Given the description of an element on the screen output the (x, y) to click on. 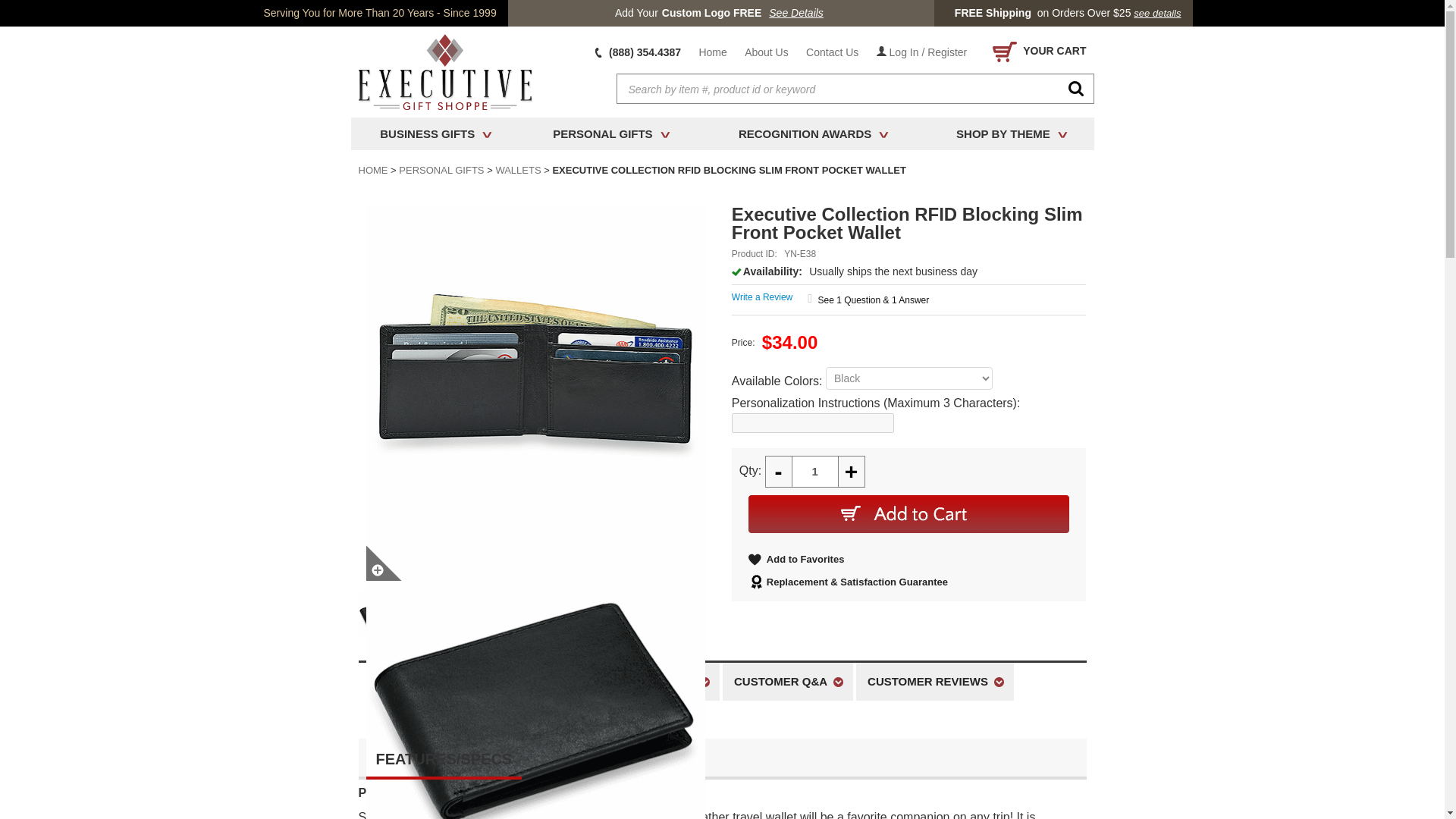
see details (1157, 13)
About Us (766, 51)
Home (711, 51)
1 (815, 471)
YOUR CART (1035, 51)
Contact Us (831, 51)
See Details (796, 13)
